Given the description of an element on the screen output the (x, y) to click on. 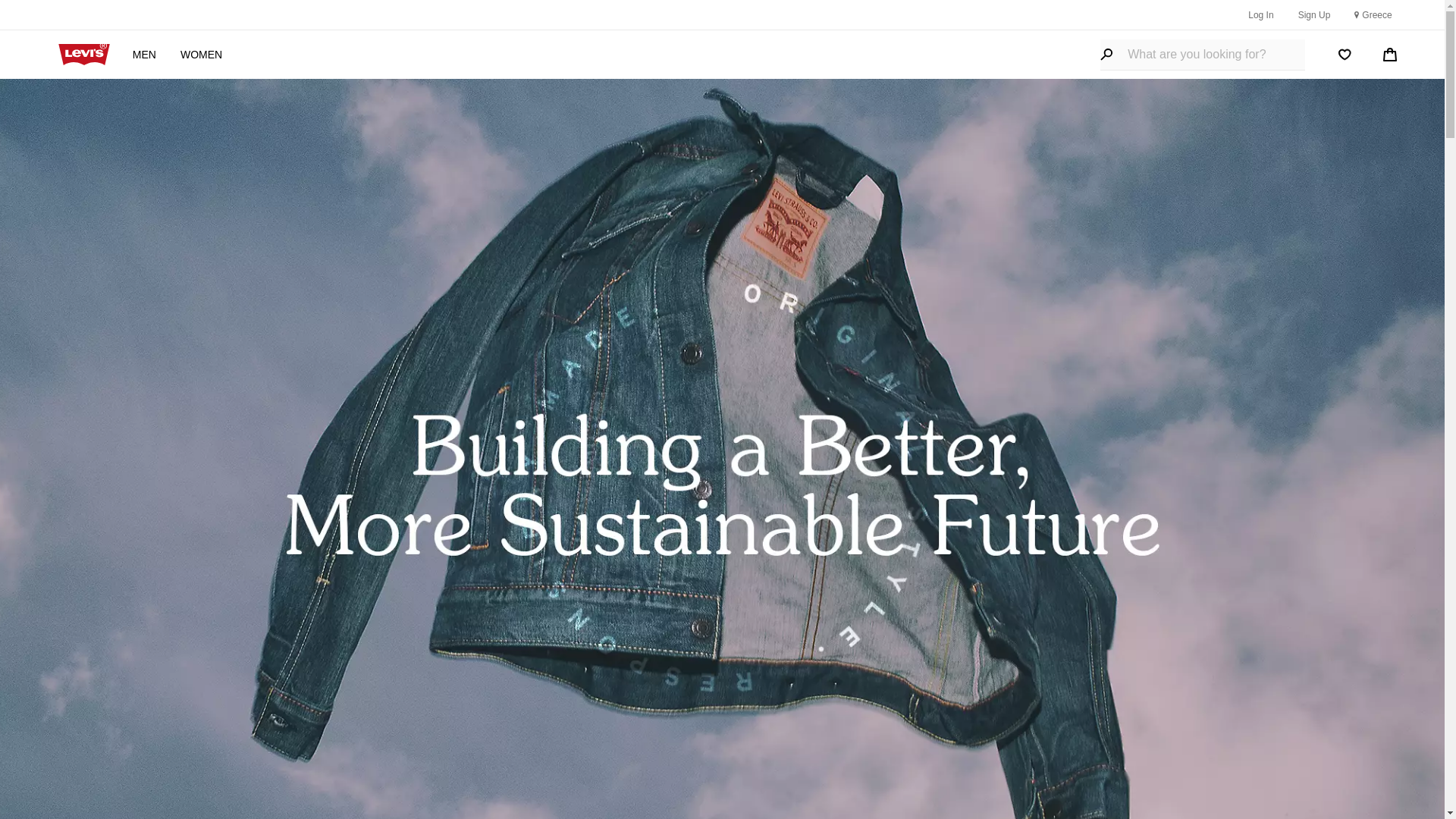
Sign Up (1314, 14)
Greece (1372, 14)
Log In (1259, 14)
